Given the description of an element on the screen output the (x, y) to click on. 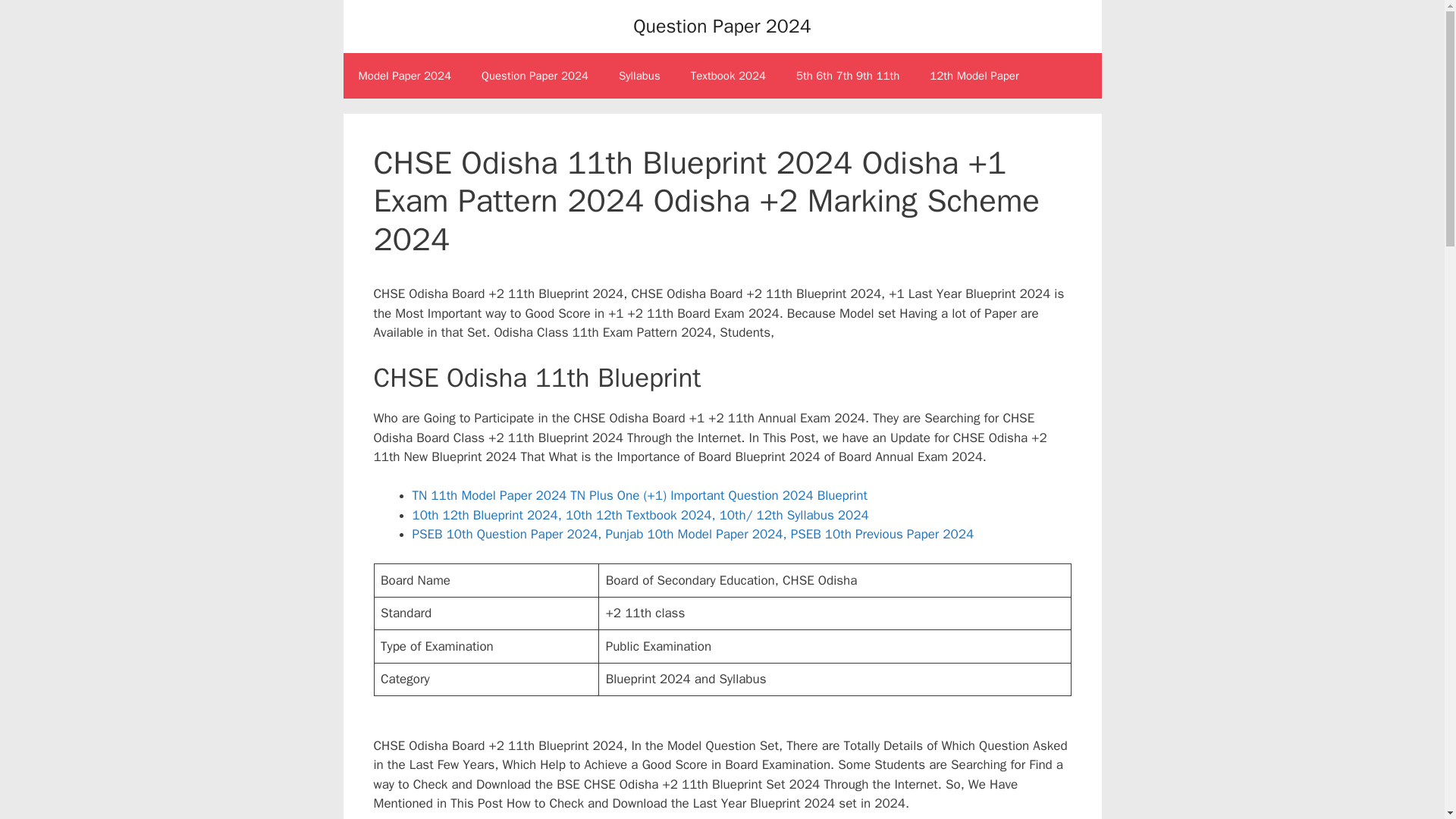
Question Paper 2024 (534, 75)
Model Paper 2024 (403, 75)
5th 6th 7th 9th 11th (847, 75)
Textbook 2024 (727, 75)
12th Model Paper (973, 75)
Question Paper 2024 (721, 25)
Syllabus (639, 75)
